Given the description of an element on the screen output the (x, y) to click on. 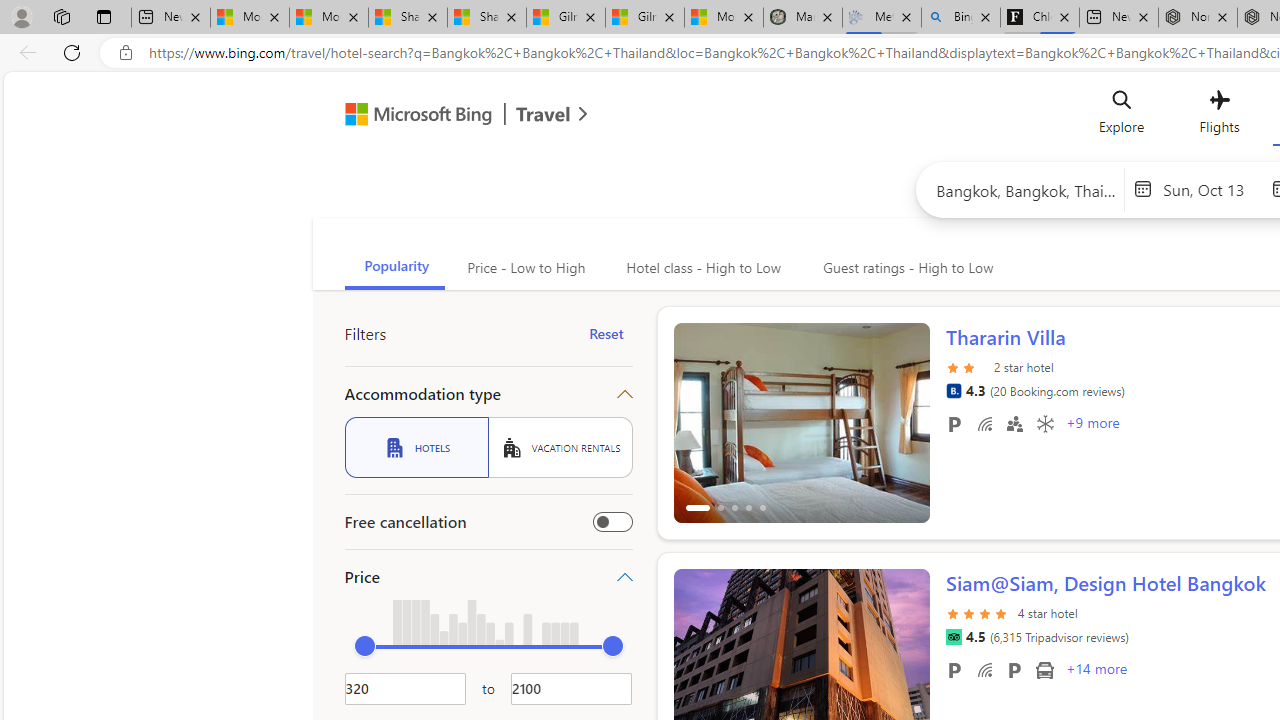
Hotel class - High to Low (701, 268)
min  (364, 645)
Free cancellation (612, 521)
Slide 1 (801, 422)
Gilma and Hector both pose tropical trouble for Hawaii (644, 17)
Free WiFi (984, 669)
Manatee Mortality Statistics | FWC (803, 17)
ScrollRight (905, 660)
Refresh (72, 52)
VACATION RENTALS (560, 447)
